Given the description of an element on the screen output the (x, y) to click on. 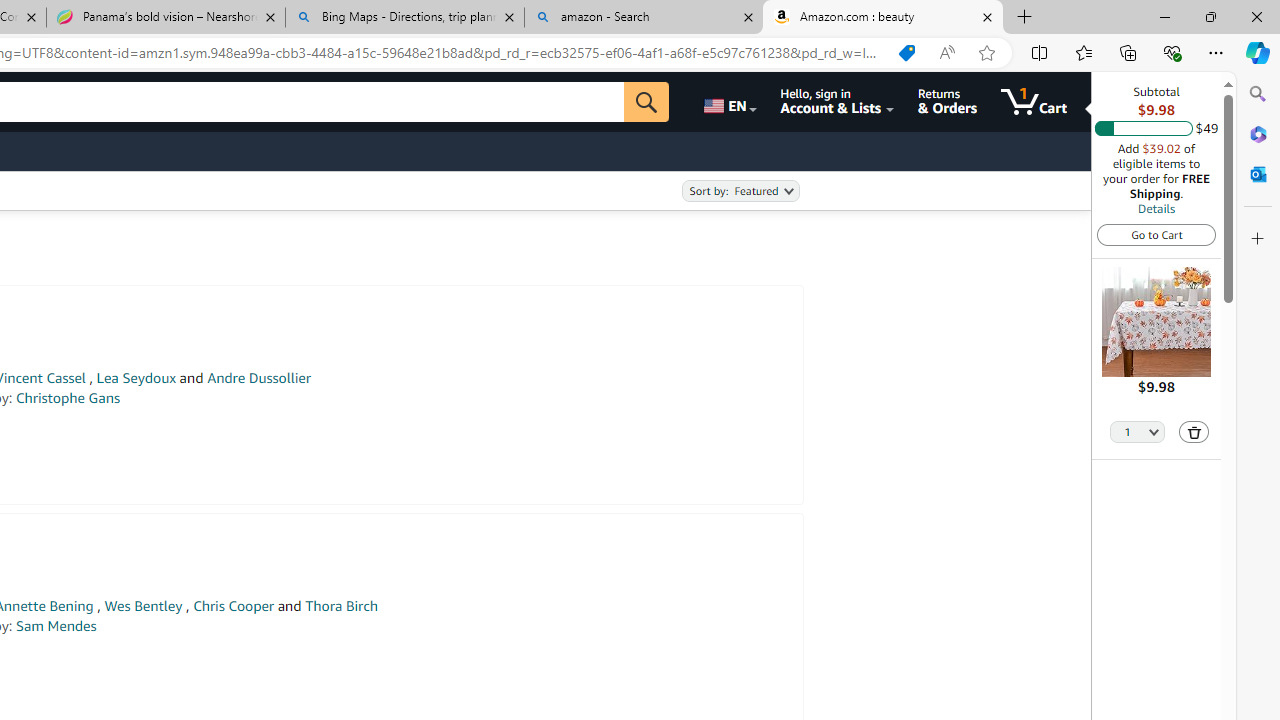
Christophe Gans (67, 398)
amazon - Search (643, 17)
Andre Dussollier (259, 378)
Delete (1194, 431)
Hello, sign in Account & Lists (836, 101)
Lea Seydoux (136, 378)
